Given the description of an element on the screen output the (x, y) to click on. 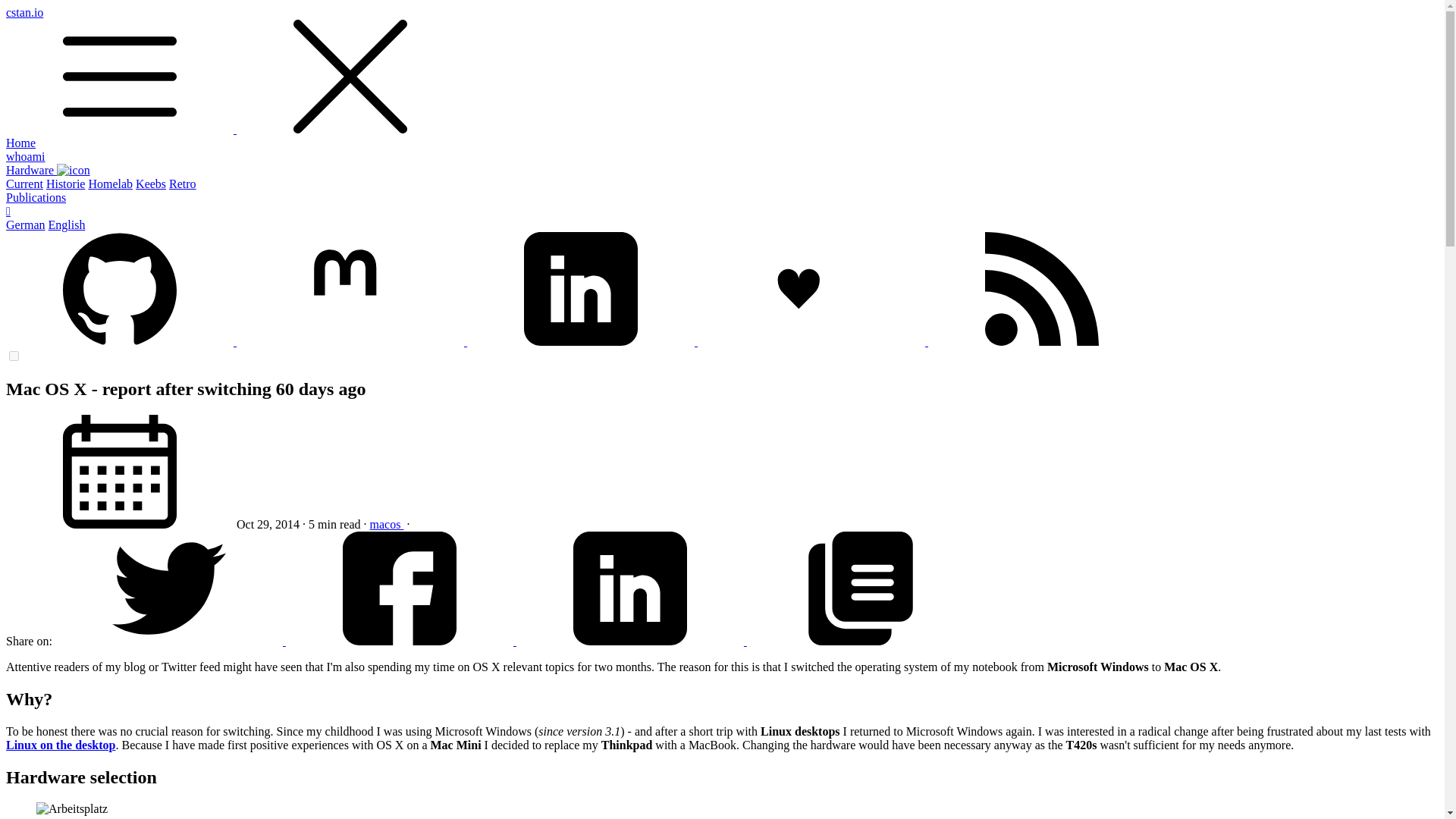
Hardware (47, 169)
open-menu (118, 76)
github (120, 341)
linkedin (580, 288)
English (66, 224)
rss (1042, 288)
Historie (65, 183)
Retro (182, 183)
Current (24, 183)
github (118, 288)
Homelab (109, 183)
Homelab (109, 183)
Keebs (150, 183)
Share on Twitter (170, 640)
macos (386, 523)
